Given the description of an element on the screen output the (x, y) to click on. 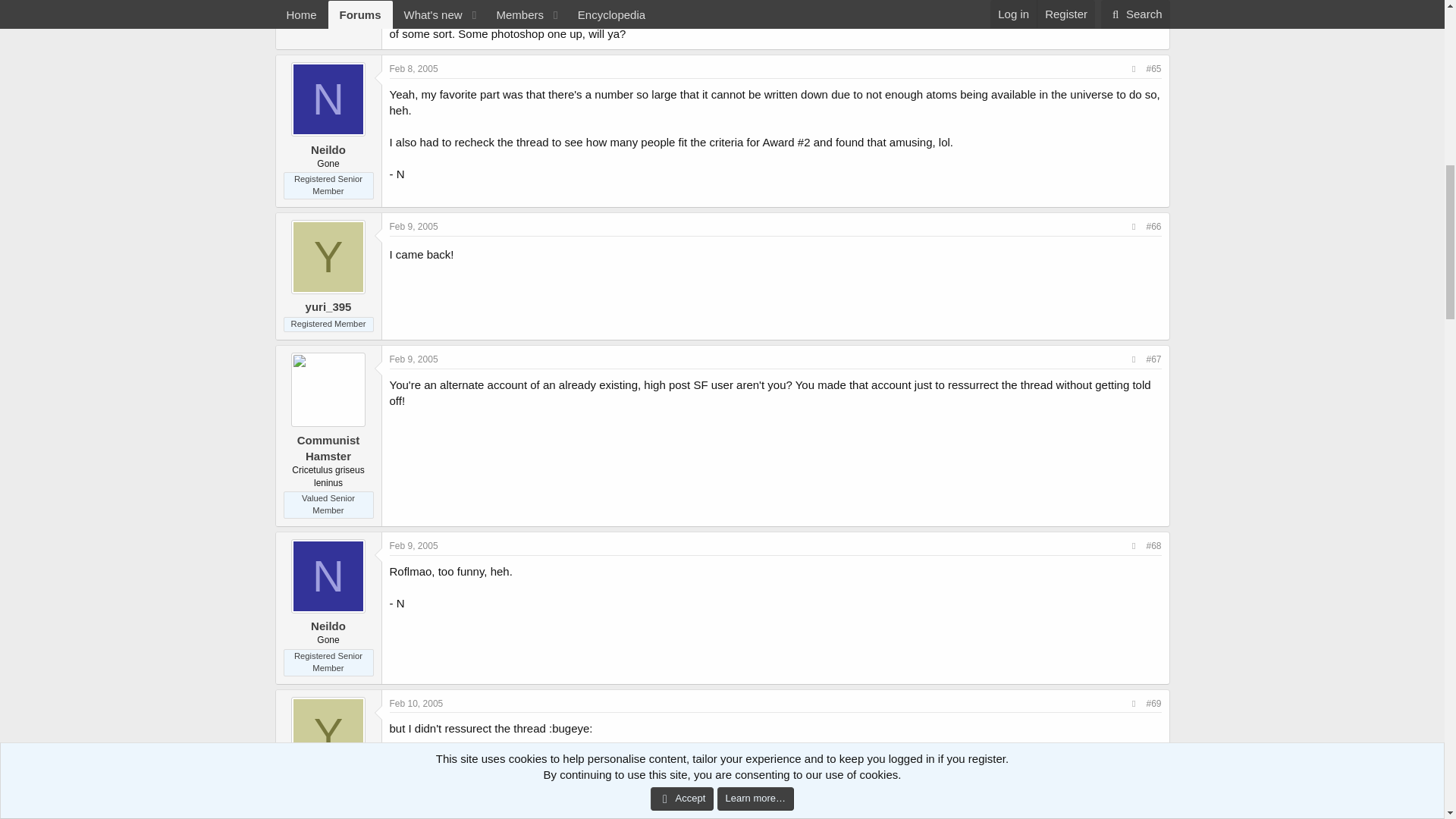
Feb 10, 2005 at 12:26 AM (417, 703)
Big Grin    :D (465, 252)
Feb 9, 2005 at 6:43 AM (414, 226)
Feb 9, 2005 at 1:41 PM (414, 545)
Feb 9, 2005 at 7:50 AM (414, 358)
Feb 8, 2005 at 11:13 AM (414, 68)
